Given the description of an element on the screen output the (x, y) to click on. 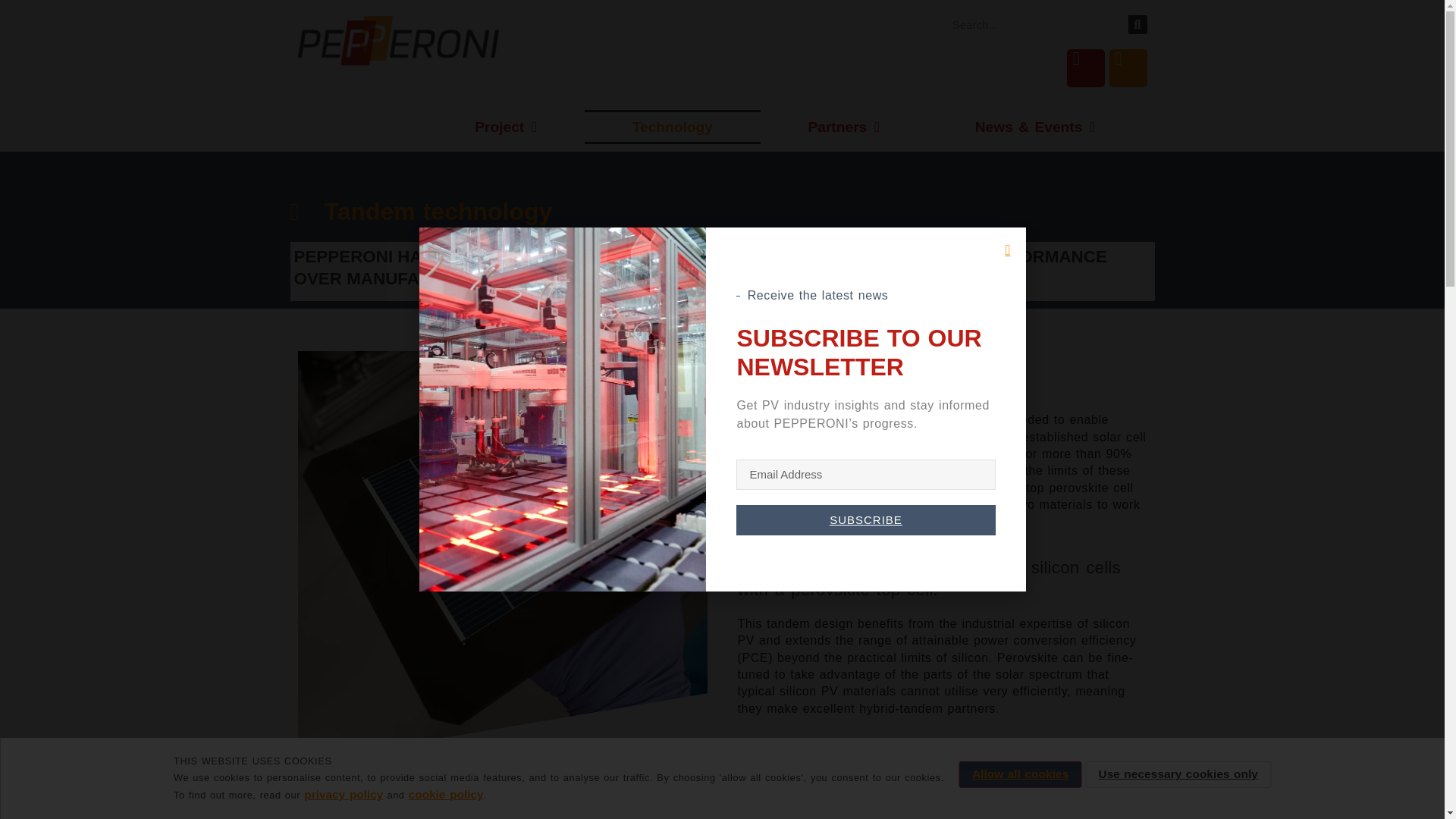
Use necessary cookies only (1178, 774)
Allow all cookies (1020, 774)
privacy policy (343, 793)
Technology (672, 126)
Partners (843, 126)
SUBSCRIBE (865, 520)
cookie policy (446, 793)
Project (505, 126)
